Given the description of an element on the screen output the (x, y) to click on. 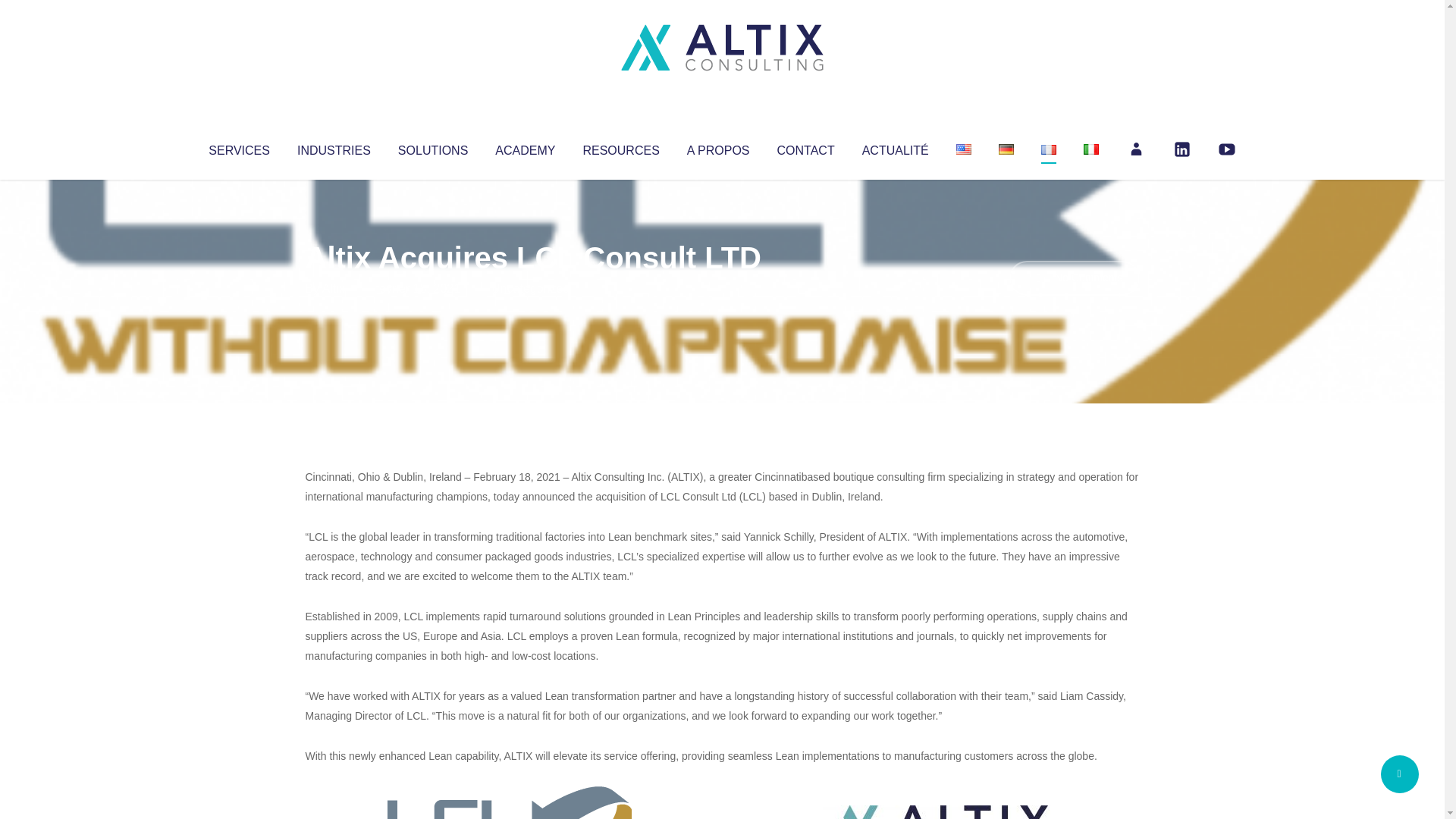
Altix (333, 287)
RESOURCES (620, 146)
INDUSTRIES (334, 146)
SERVICES (238, 146)
SOLUTIONS (432, 146)
Uncategorized (530, 287)
A PROPOS (718, 146)
ACADEMY (524, 146)
No Comments (1073, 278)
Articles par Altix (333, 287)
